Given the description of an element on the screen output the (x, y) to click on. 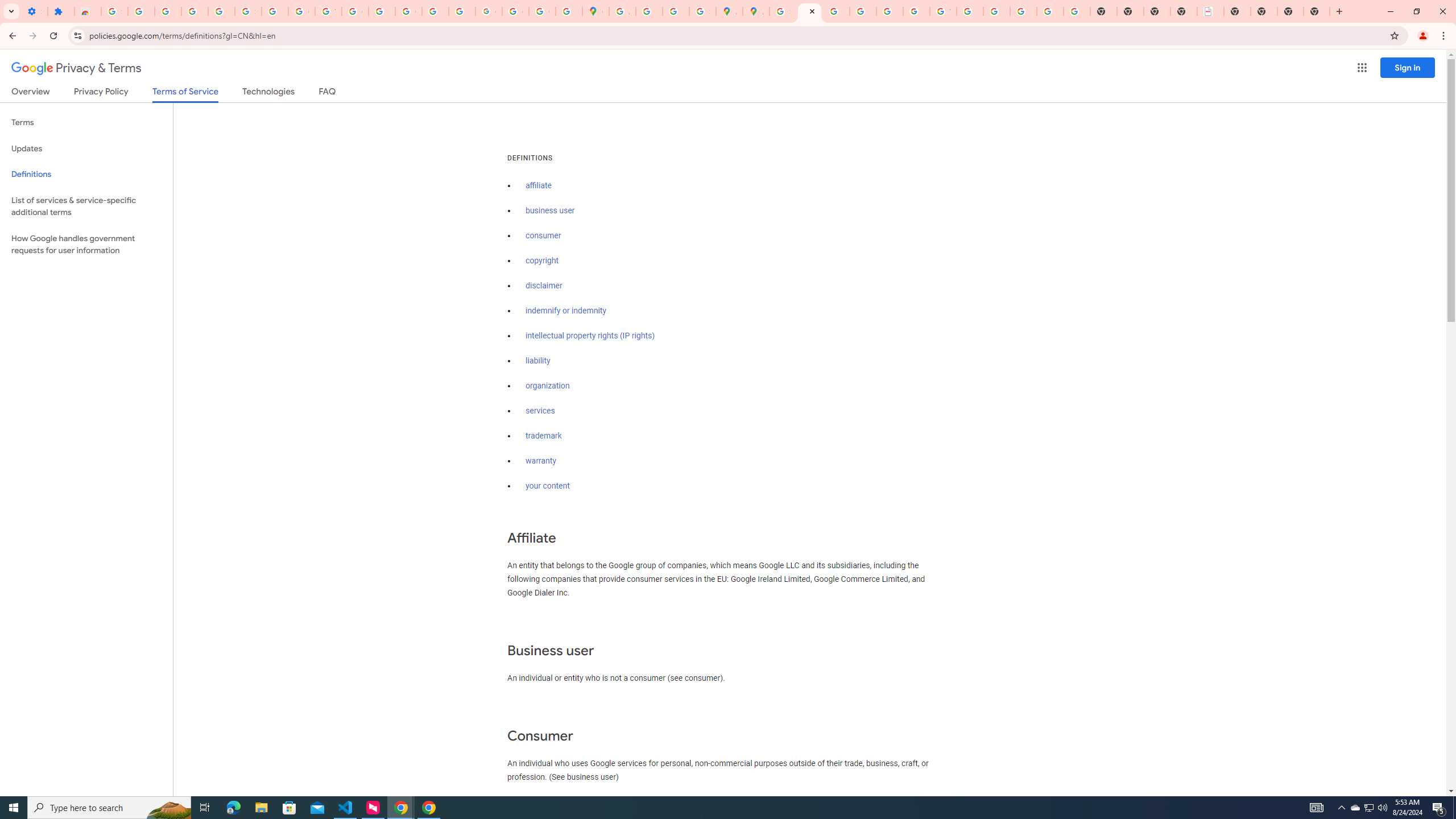
Reviews: Helix Fruit Jump Arcade Game (87, 11)
consumer (543, 235)
New Tab (1316, 11)
warranty (540, 461)
